Given the description of an element on the screen output the (x, y) to click on. 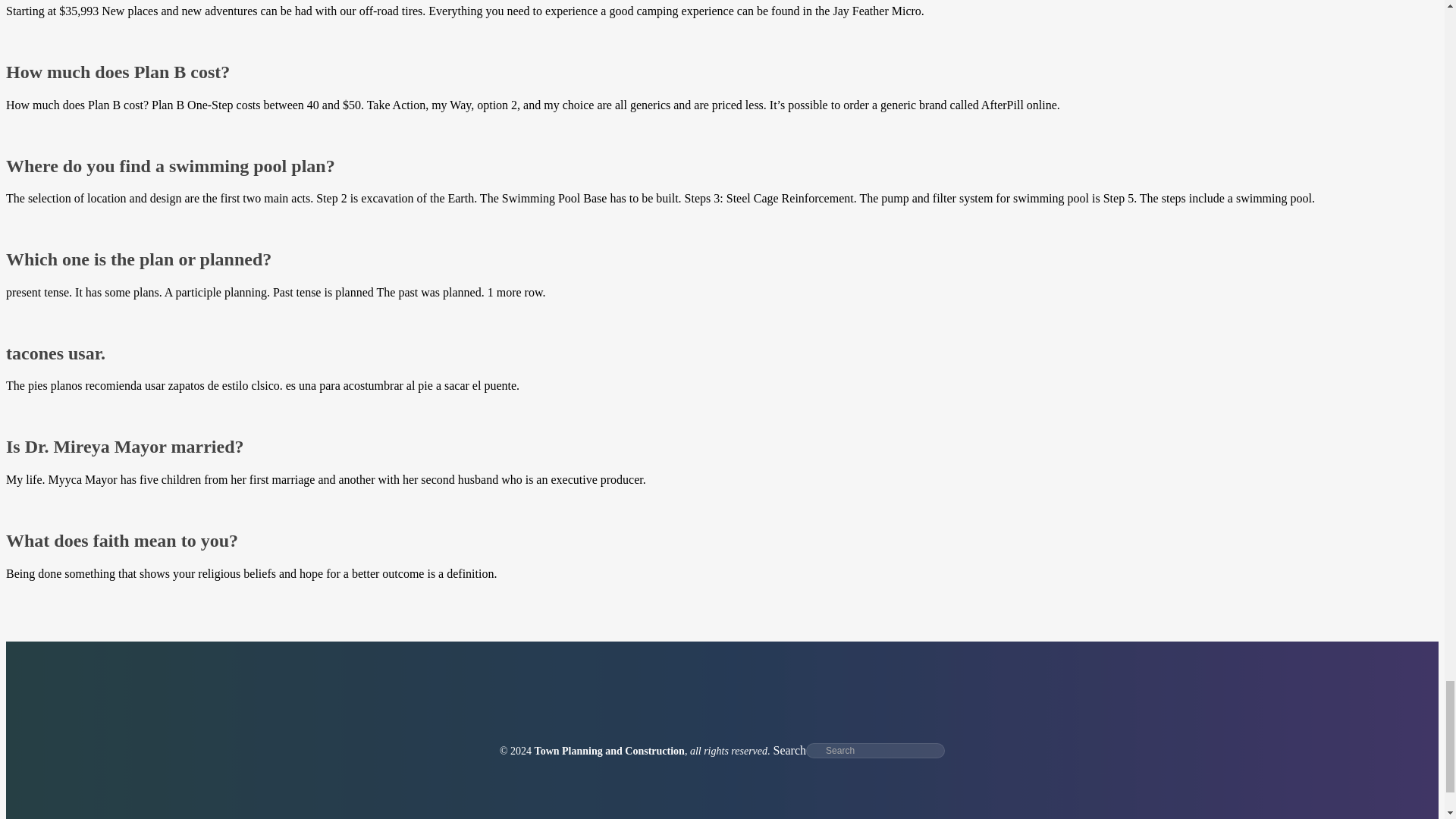
Town Planning and Construction (609, 750)
